Given the description of an element on the screen output the (x, y) to click on. 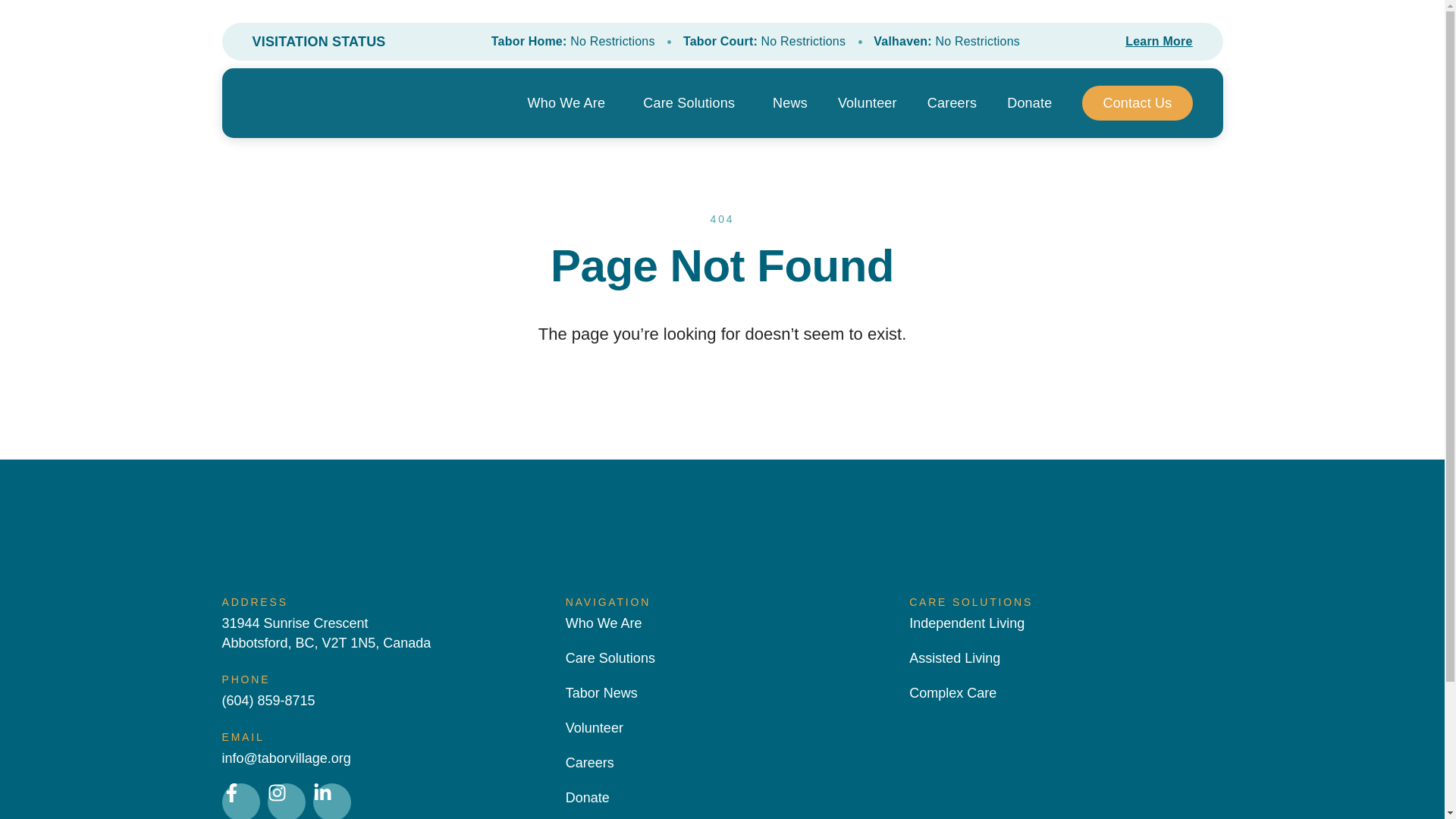
News (790, 102)
Who We Are (604, 623)
Careers (590, 762)
Who We Are (569, 102)
Volunteer (594, 727)
Donate (1029, 102)
Care Solutions (692, 102)
Care Solutions (610, 658)
Learn More (1158, 40)
Tabor News (601, 692)
